Given the description of an element on the screen output the (x, y) to click on. 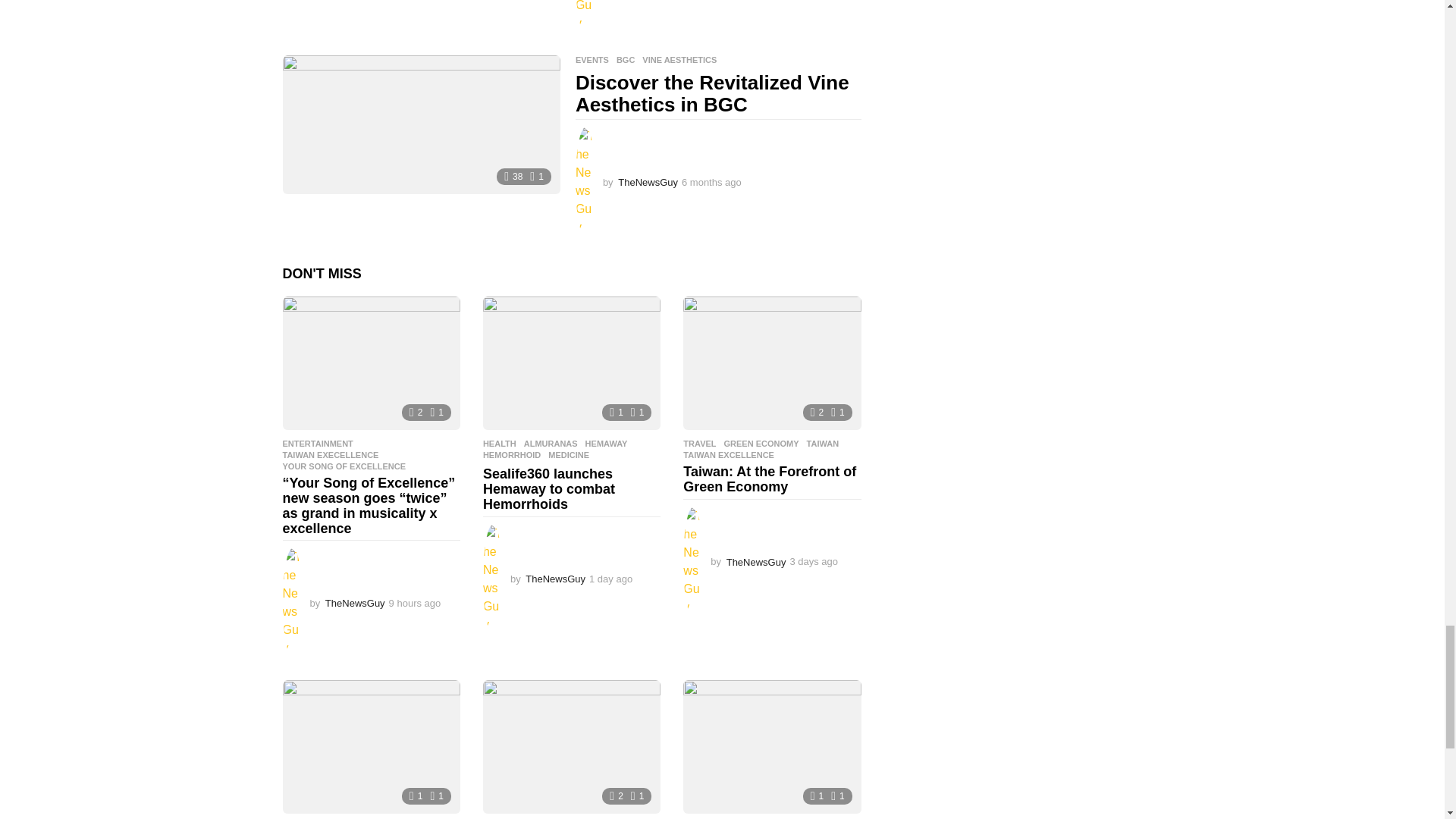
Sealife360 launches Hemaway to combat Hemorrhoids (572, 362)
Discover the Revitalized Vine Aesthetics in BGC (420, 124)
Taiwan: At the Forefront of Green Economy (771, 362)
WOW! Fiesta names its Newest Singing Superstars (371, 747)
